Given the description of an element on the screen output the (x, y) to click on. 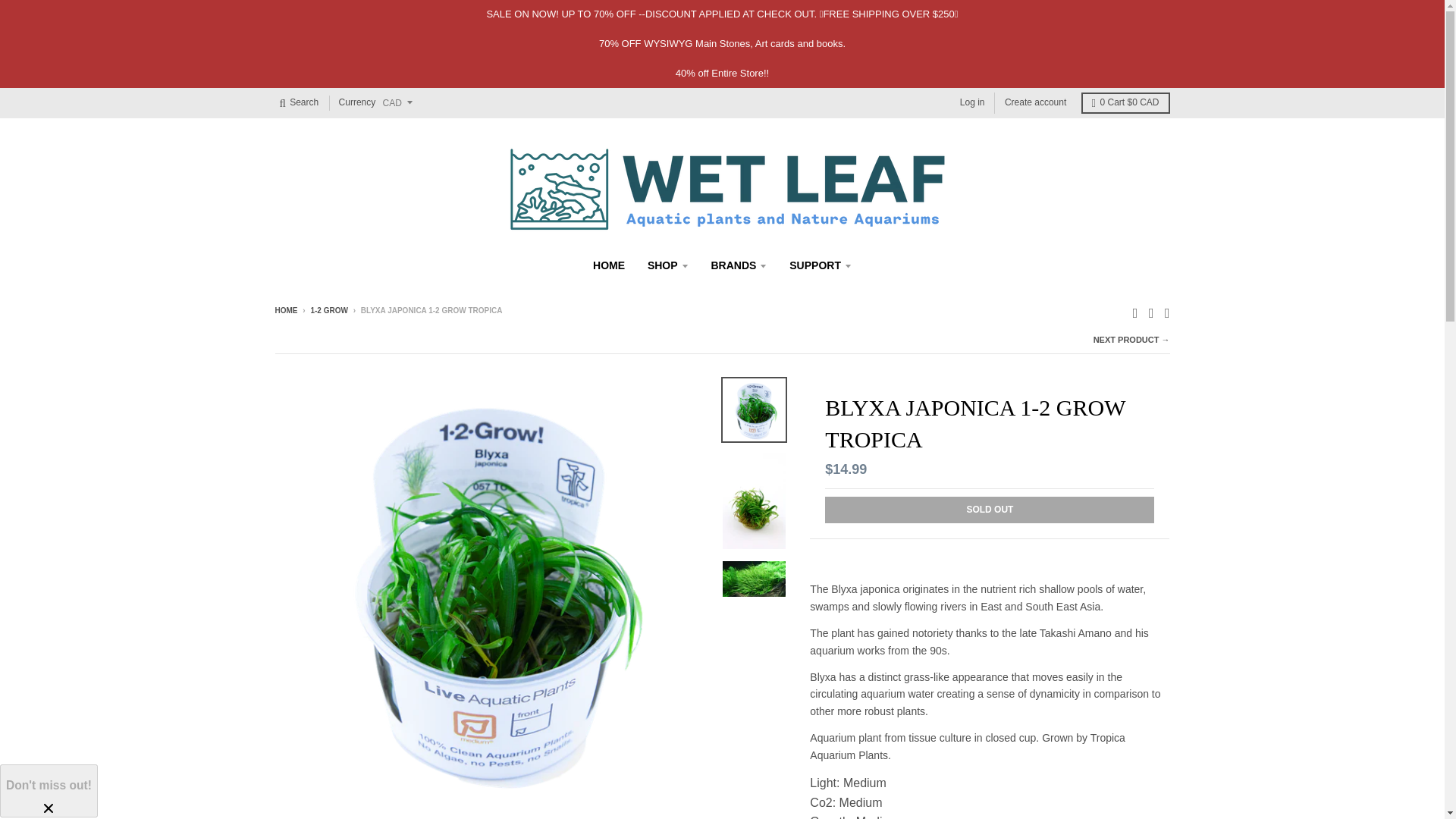
HOME (608, 265)
The Wet Leaf on Facebook (1135, 311)
Create account (1035, 102)
SHOP (667, 265)
The Wet Leaf on Google Plus (1167, 311)
Back to the frontpage (286, 310)
Log in (972, 102)
The Wet Leaf on Instagram (1151, 311)
Search (299, 102)
